Given the description of an element on the screen output the (x, y) to click on. 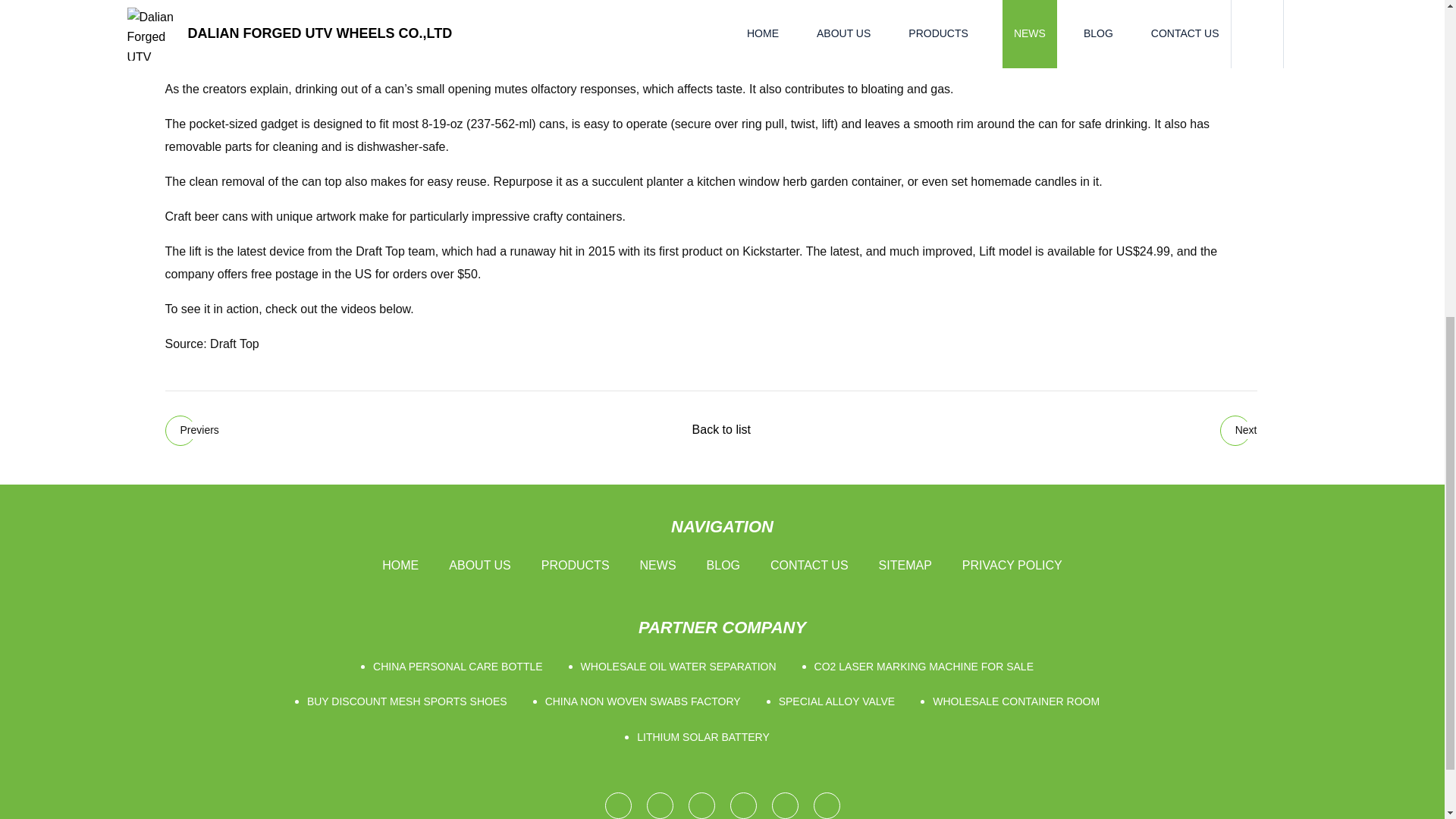
ABOUT US (479, 565)
CO2 LASER MARKING MACHINE FOR SALE (927, 666)
Previers (192, 430)
Dymag and Hankuk Carbon Join Forces to Re (192, 430)
Back to list (719, 429)
PRODUCTS (575, 565)
SITEMAP (904, 565)
HOME (400, 565)
BUY DISCOUNT MESH SPORTS SHOES (411, 701)
